Given the description of an element on the screen output the (x, y) to click on. 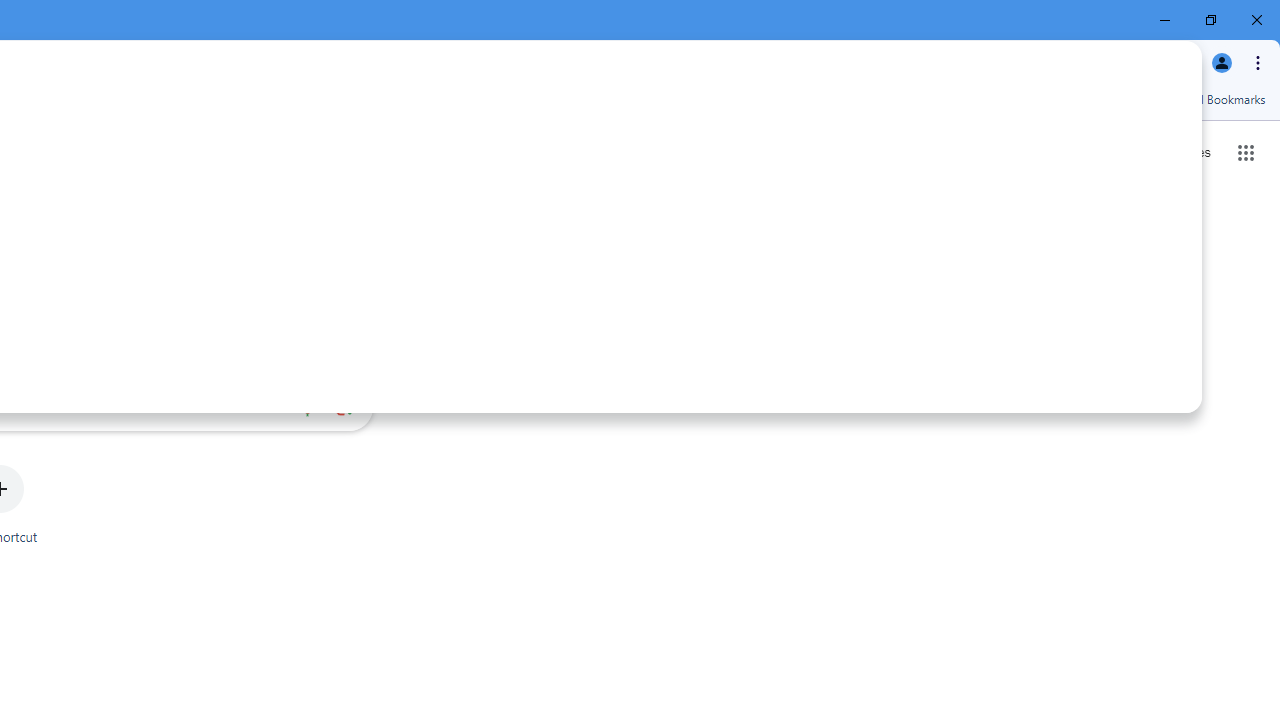
Search by image (344, 407)
Google apps (1245, 152)
Search by voice (307, 407)
Search for Images  (1188, 152)
All Bookmarks (1215, 99)
